Given the description of an element on the screen output the (x, y) to click on. 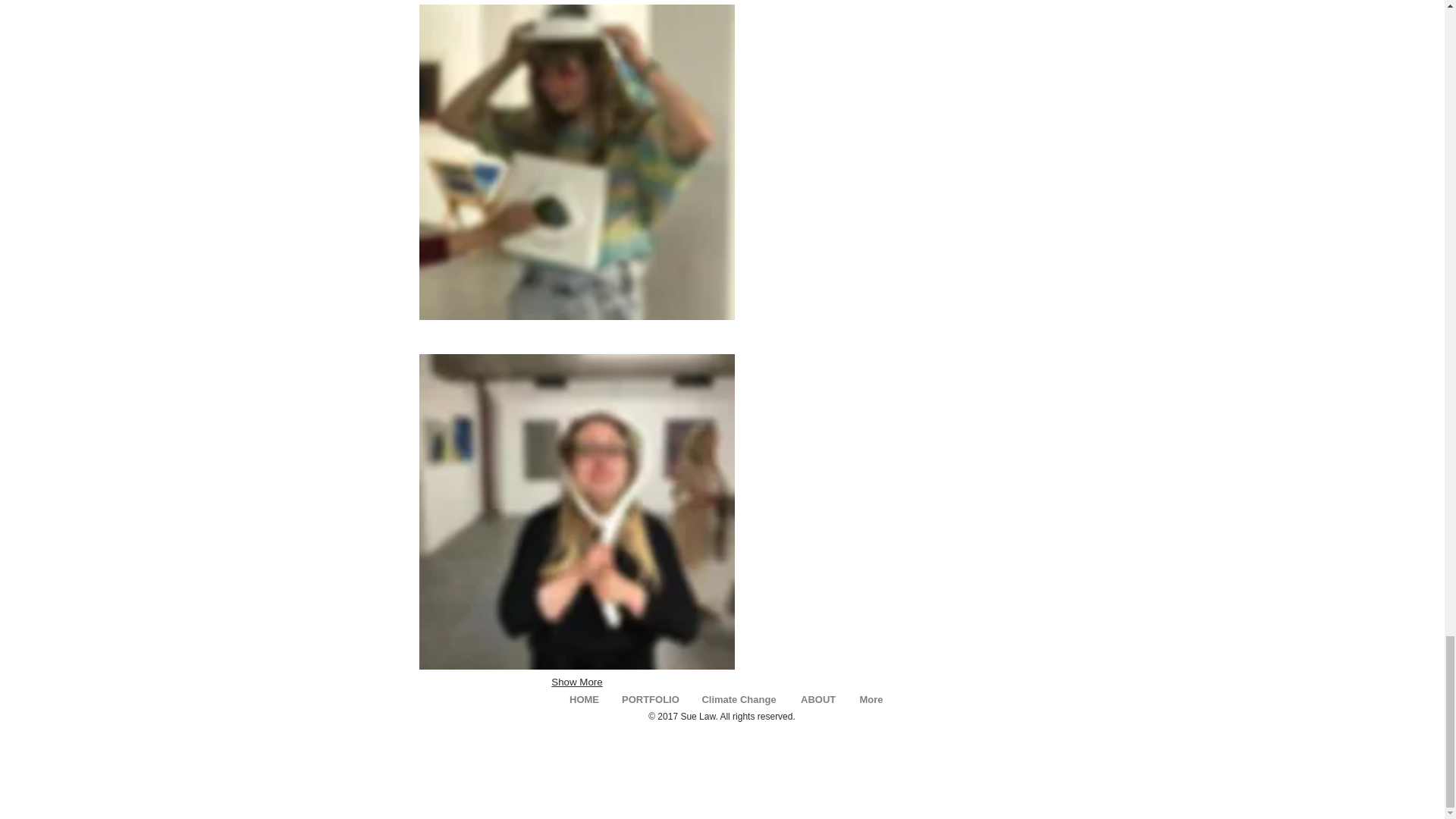
Show More (576, 682)
HOME (583, 698)
ABOUT (818, 698)
